Given the description of an element on the screen output the (x, y) to click on. 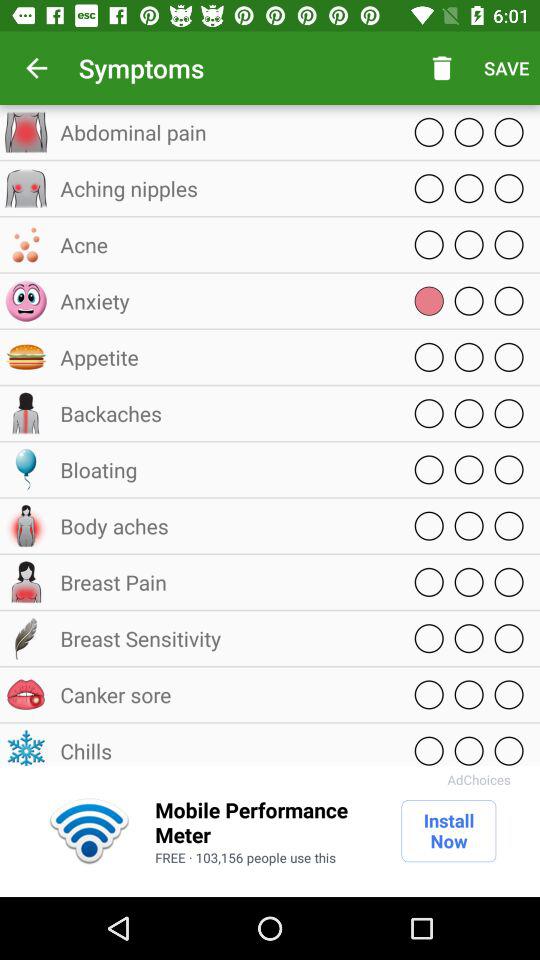
swipe to bloating icon (225, 469)
